Given the description of an element on the screen output the (x, y) to click on. 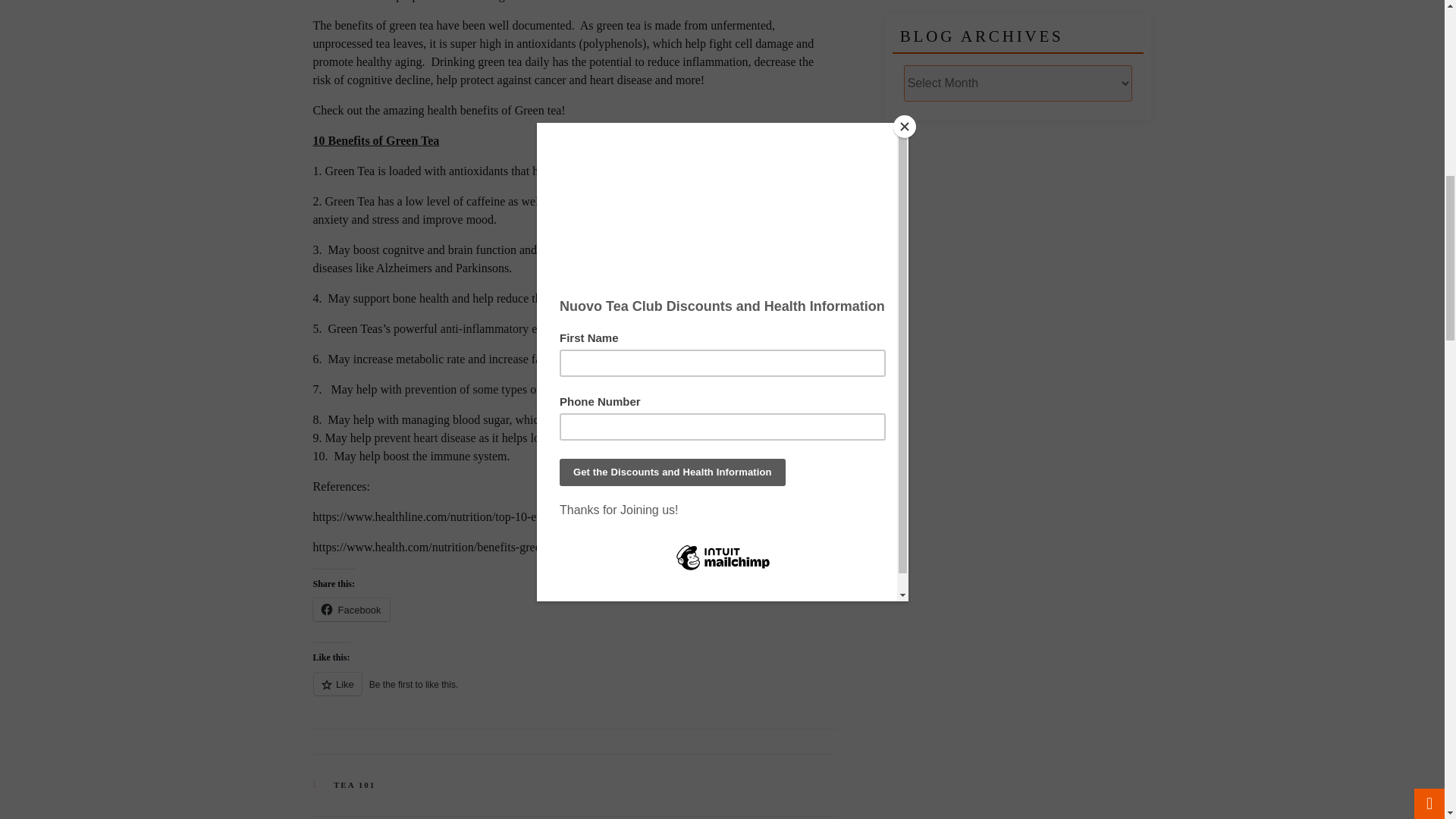
Like or Reblog (567, 692)
Click to share on Facebook (350, 609)
